Given the description of an element on the screen output the (x, y) to click on. 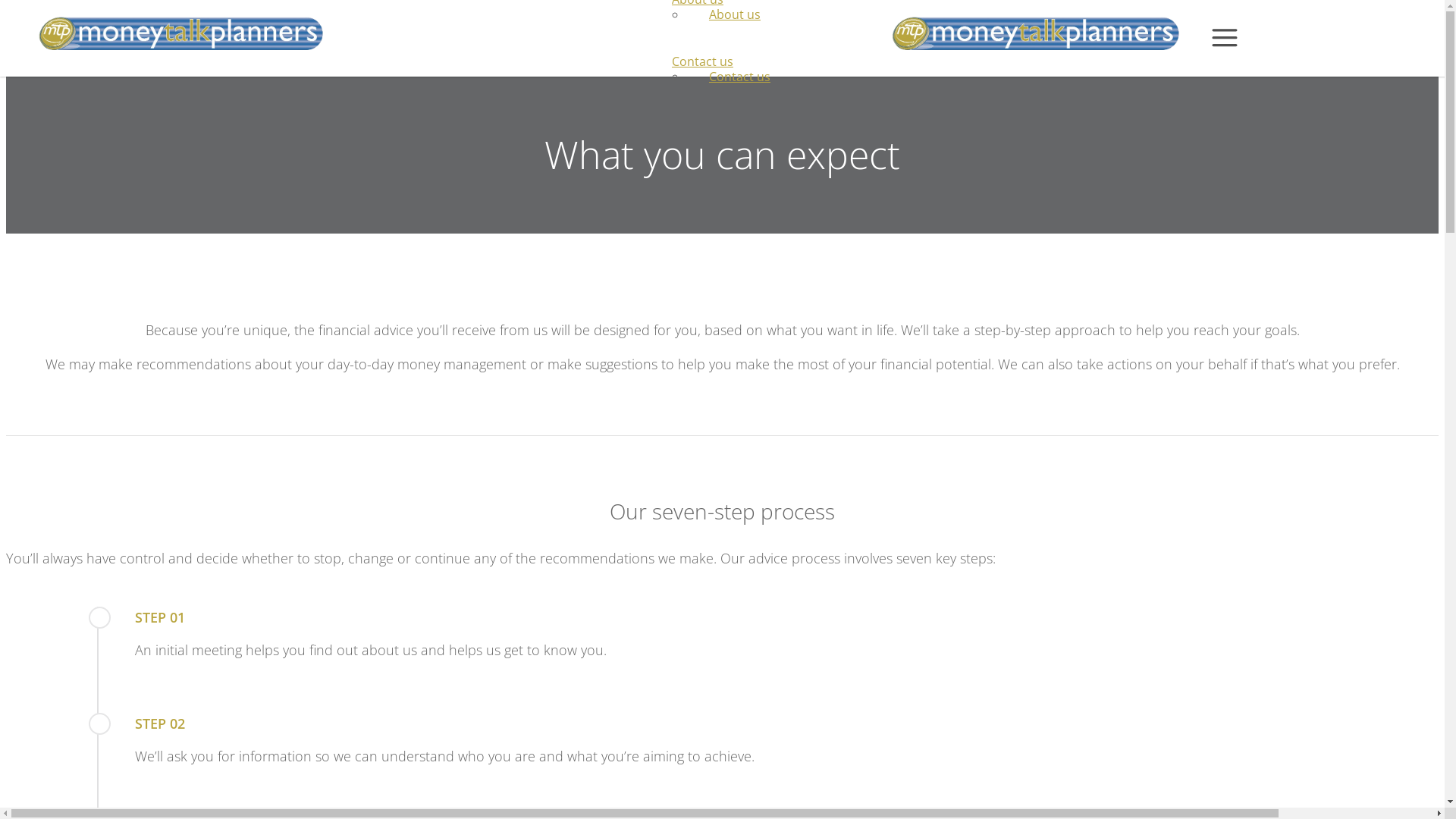
Contact us Element type: text (739, 76)
Contact us Element type: text (702, 60)
